Given the description of an element on the screen output the (x, y) to click on. 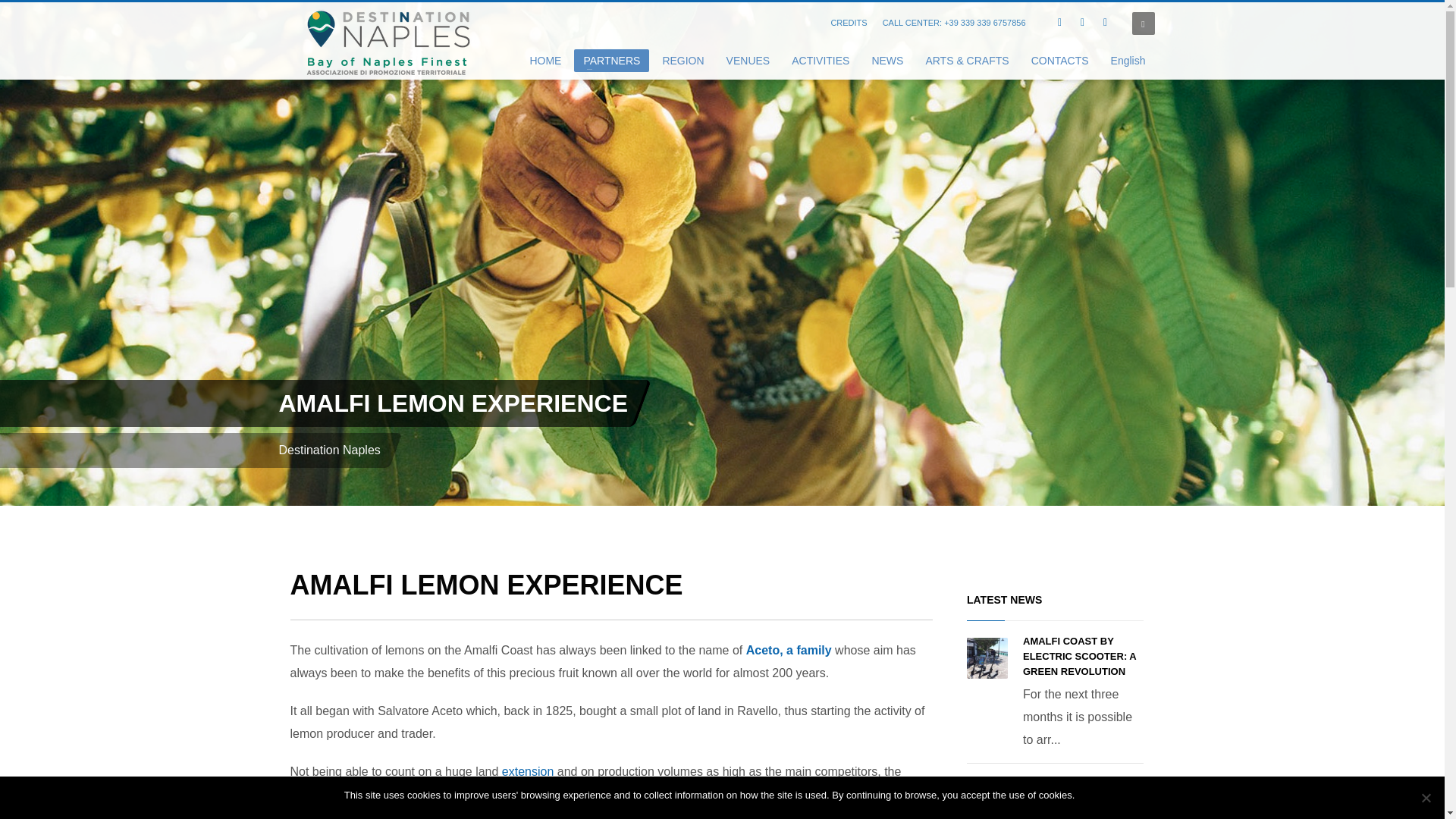
YouTube (1082, 22)
PARTNERS (611, 60)
HOME (544, 60)
CREDITS (847, 22)
Facebook (1059, 22)
Official Web Site (389, 42)
Instagram (1105, 22)
English (1128, 60)
